Given the description of an element on the screen output the (x, y) to click on. 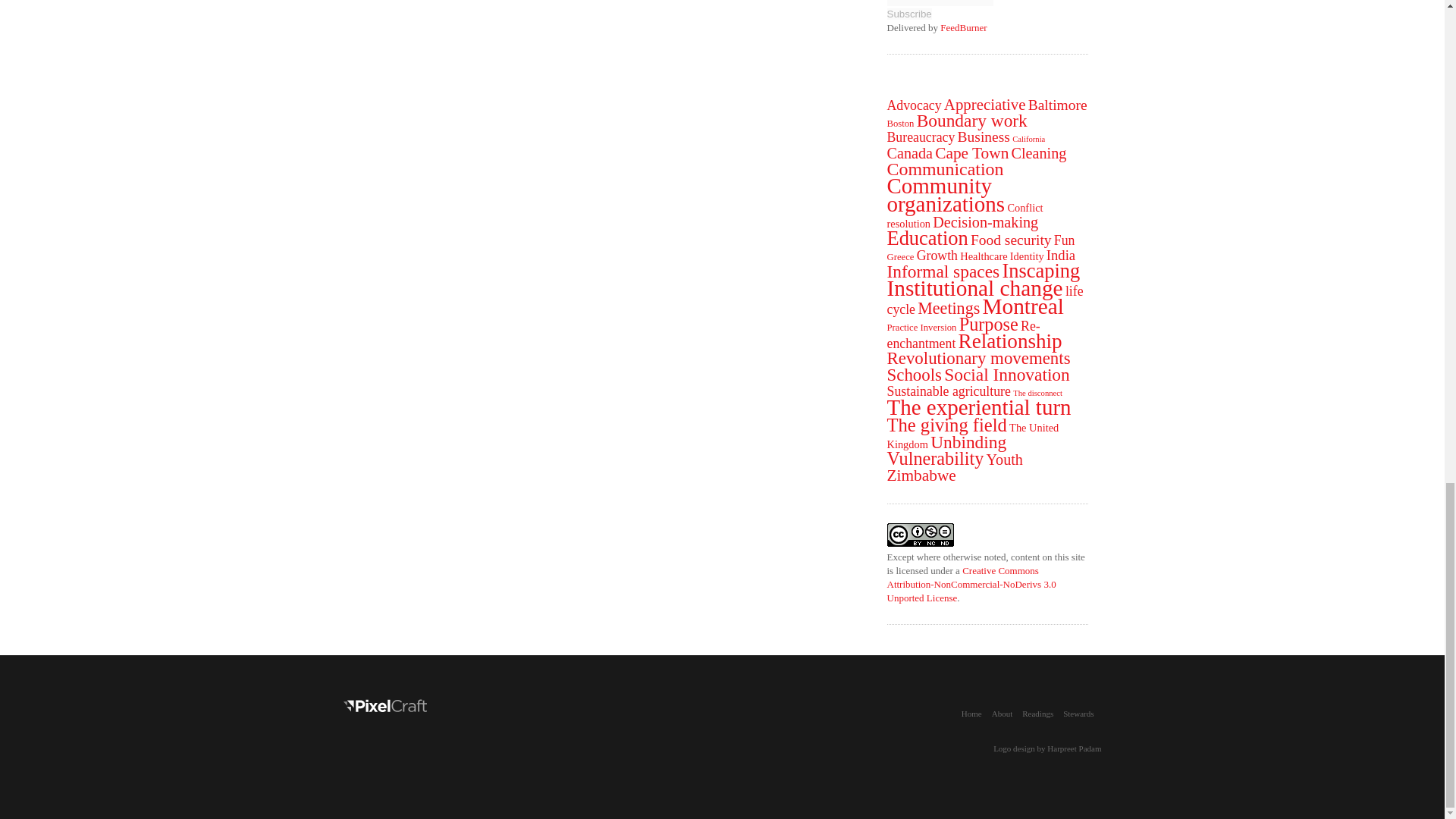
Subscribe (908, 13)
